Given the description of an element on the screen output the (x, y) to click on. 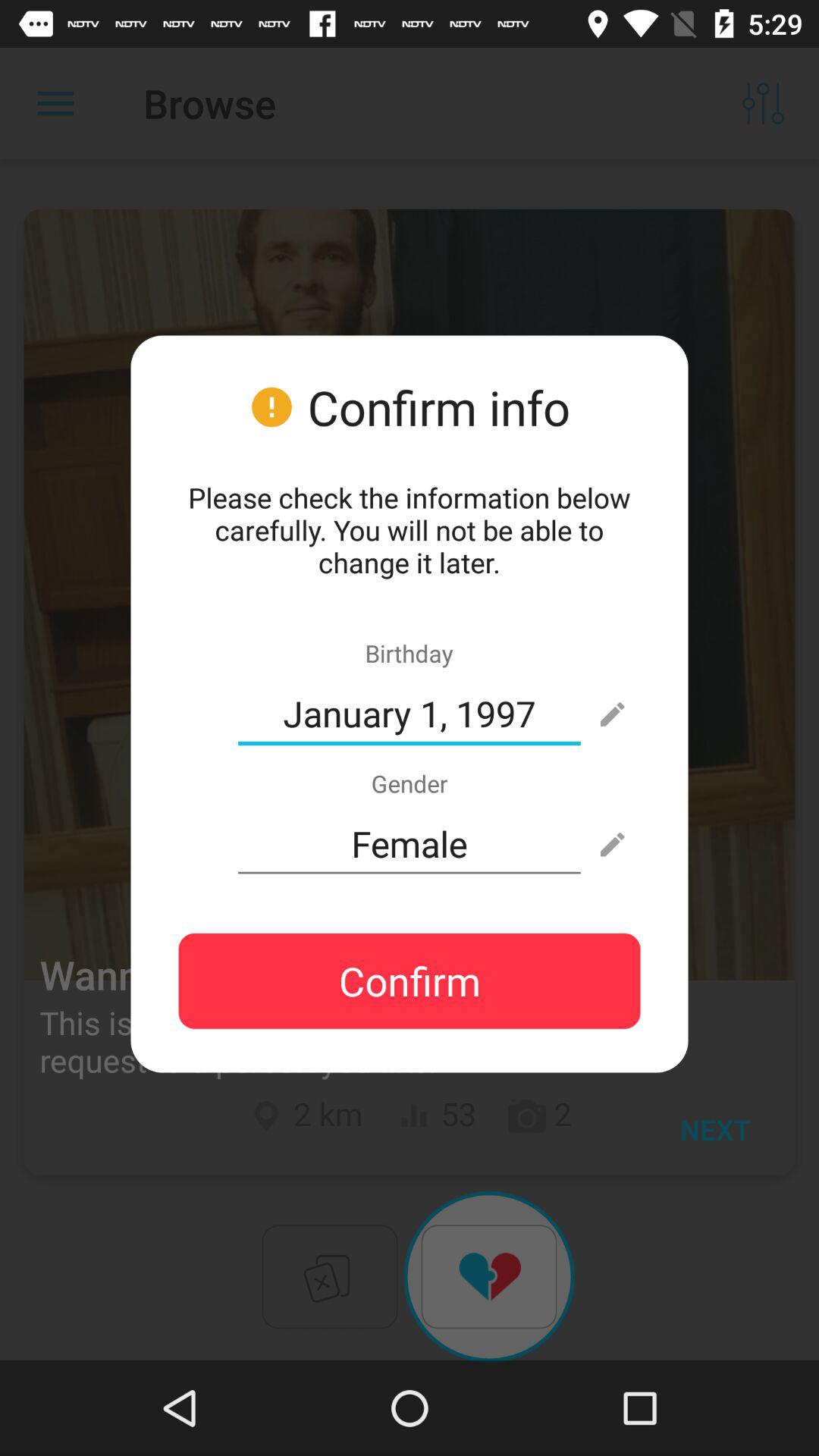
press january 1, 1997 icon (409, 714)
